Given the description of an element on the screen output the (x, y) to click on. 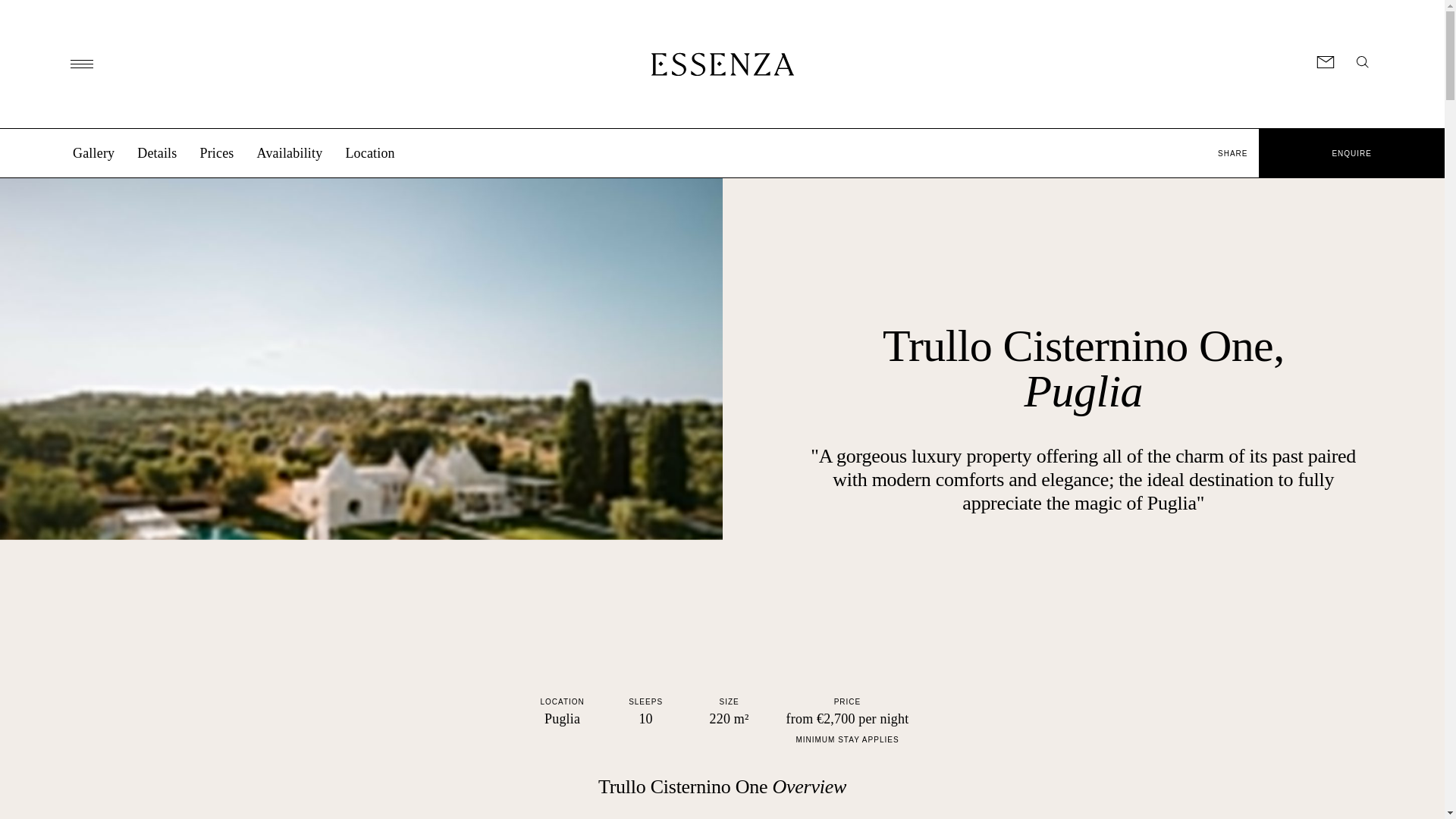
Availability (290, 152)
SHARE (1233, 153)
Gallery (93, 152)
Contact Us (1325, 61)
Location (369, 152)
Details (156, 152)
Prices (215, 152)
Search (1362, 61)
Logo essenza (721, 63)
GalleryDetailsPricesAvailabilityLocation (603, 160)
